Given the description of an element on the screen output the (x, y) to click on. 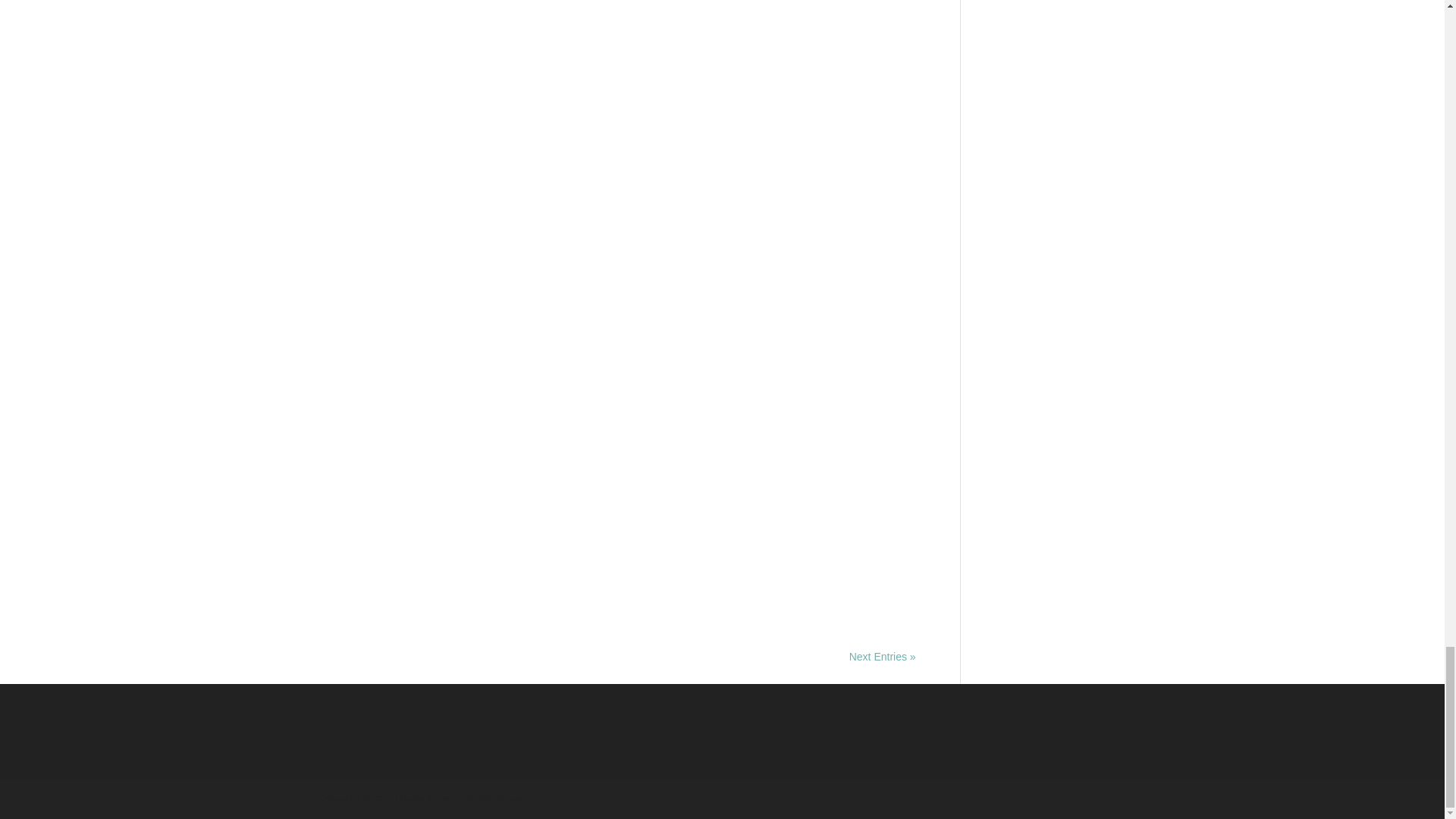
Elegant Themes (393, 797)
Premium WordPress Themes (393, 797)
WordPress (500, 797)
